Given the description of an element on the screen output the (x, y) to click on. 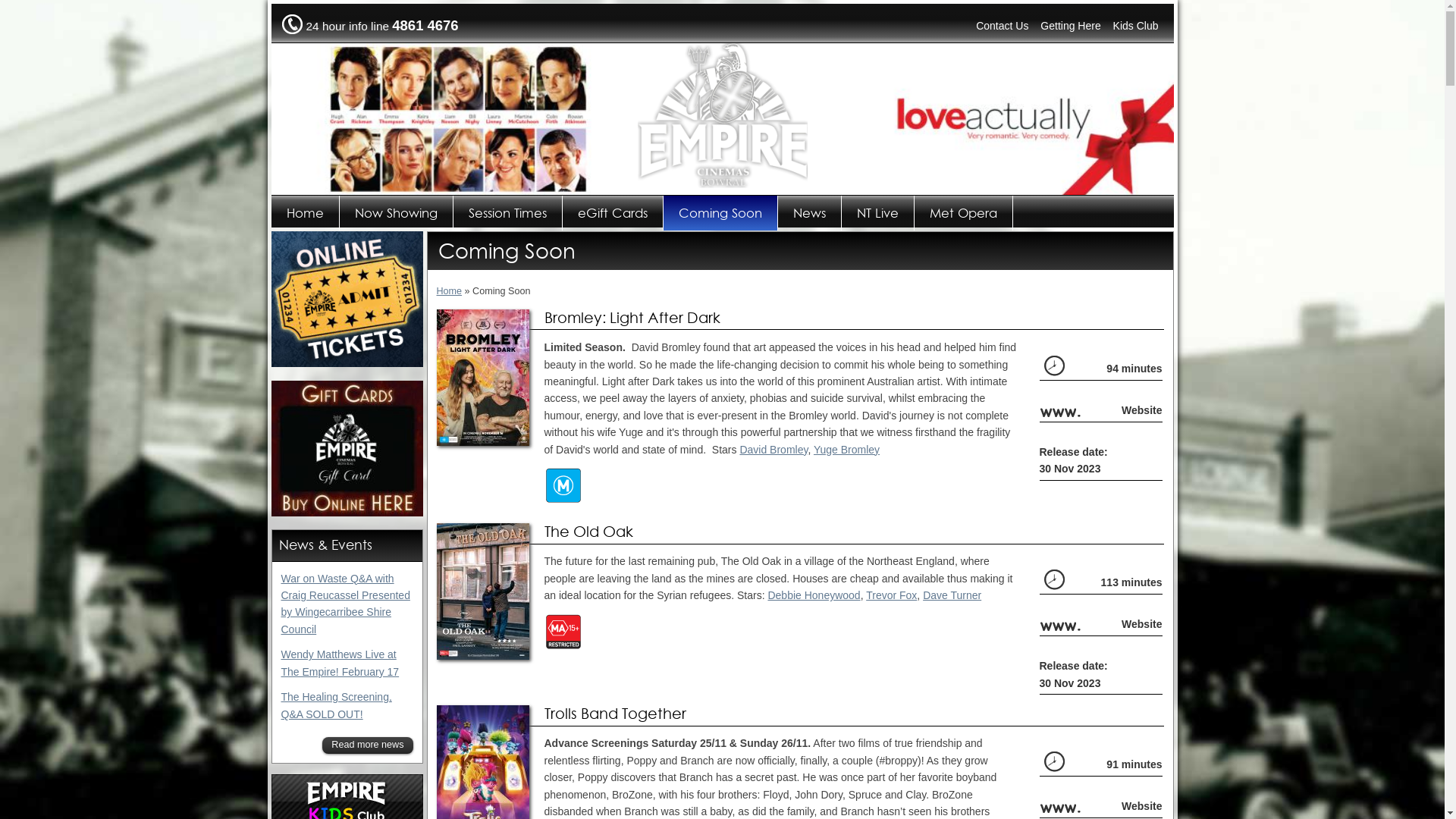
Recommended for mature audiences Element type: hover (563, 485)
Met Opera Element type: text (963, 212)
Wendy Matthews Live at The Empire! February 17 Element type: text (339, 662)
Session Times Element type: text (507, 212)
Kids Club Element type: text (1135, 25)
The Healing Screening, Q&A SOLD OUT! Element type: text (335, 704)
News Element type: text (809, 212)
Read more news Element type: text (367, 745)
Now Showing Element type: text (396, 212)
Dave Turner Element type: text (951, 595)
Yuge Bromley Element type: text (846, 449)
NT Live Element type: text (877, 212)
Contact Us Element type: text (1001, 25)
Home Element type: text (449, 290)
David Bromley Element type: text (773, 449)
Website Element type: text (1141, 806)
Trevor Fox Element type: text (891, 595)
eGift Cards Element type: text (612, 212)
Go back to the home page Element type: hover (721, 184)
Getting Here Element type: text (1070, 25)
Website Element type: text (1141, 410)
Website Element type: text (1141, 624)
Home Element type: text (305, 212)
Coming Soon Element type: text (719, 212)
Debbie Honeywood Element type: text (813, 595)
